Given the description of an element on the screen output the (x, y) to click on. 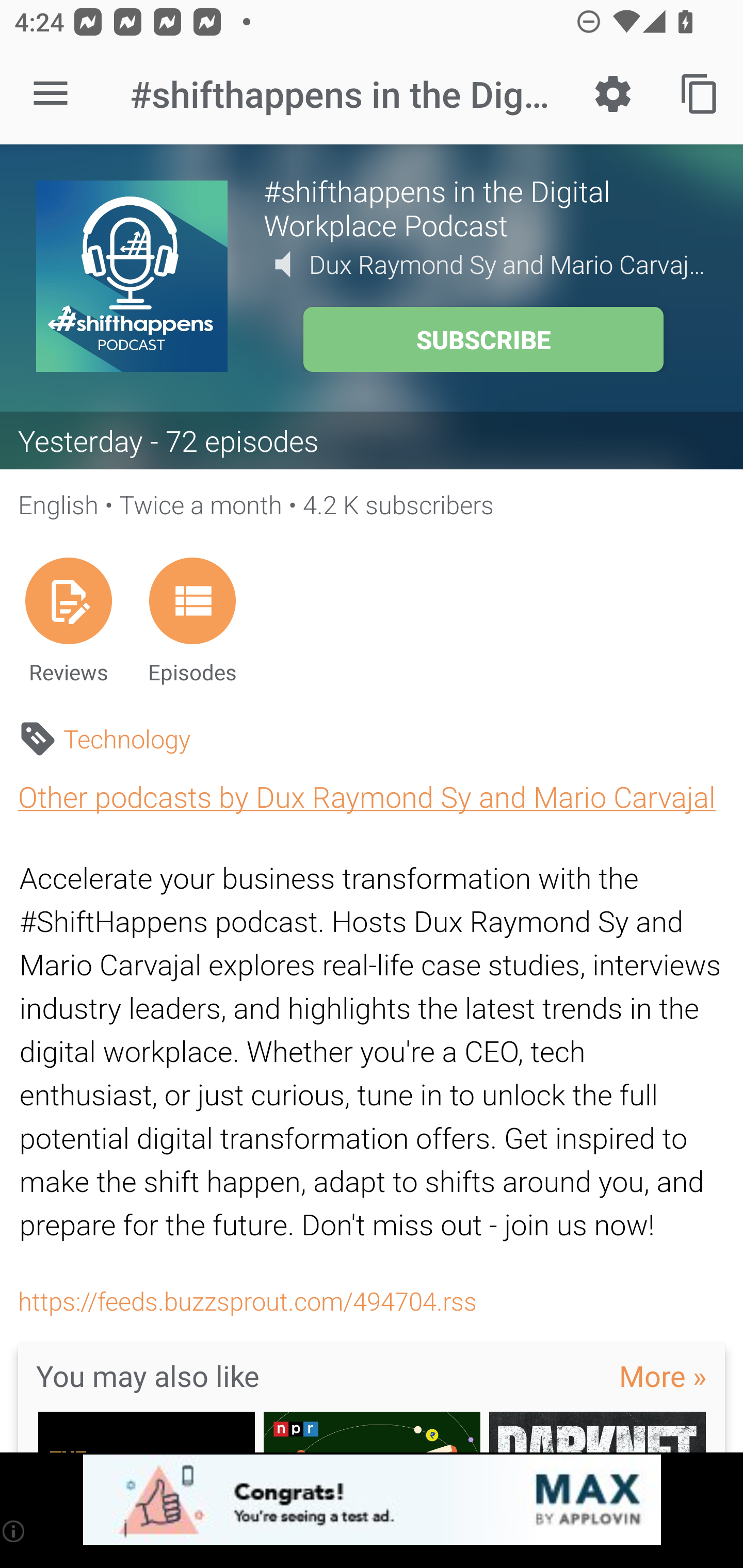
Open navigation sidebar (50, 93)
Settings (612, 93)
Copy feed url to clipboard (699, 93)
#shifthappens in the Digital Workplace Podcast (484, 207)
SUBSCRIBE (483, 339)
Reviews (68, 619)
Episodes (192, 619)
More » (662, 1375)
app-monetization (371, 1500)
(i) (14, 1531)
